Given the description of an element on the screen output the (x, y) to click on. 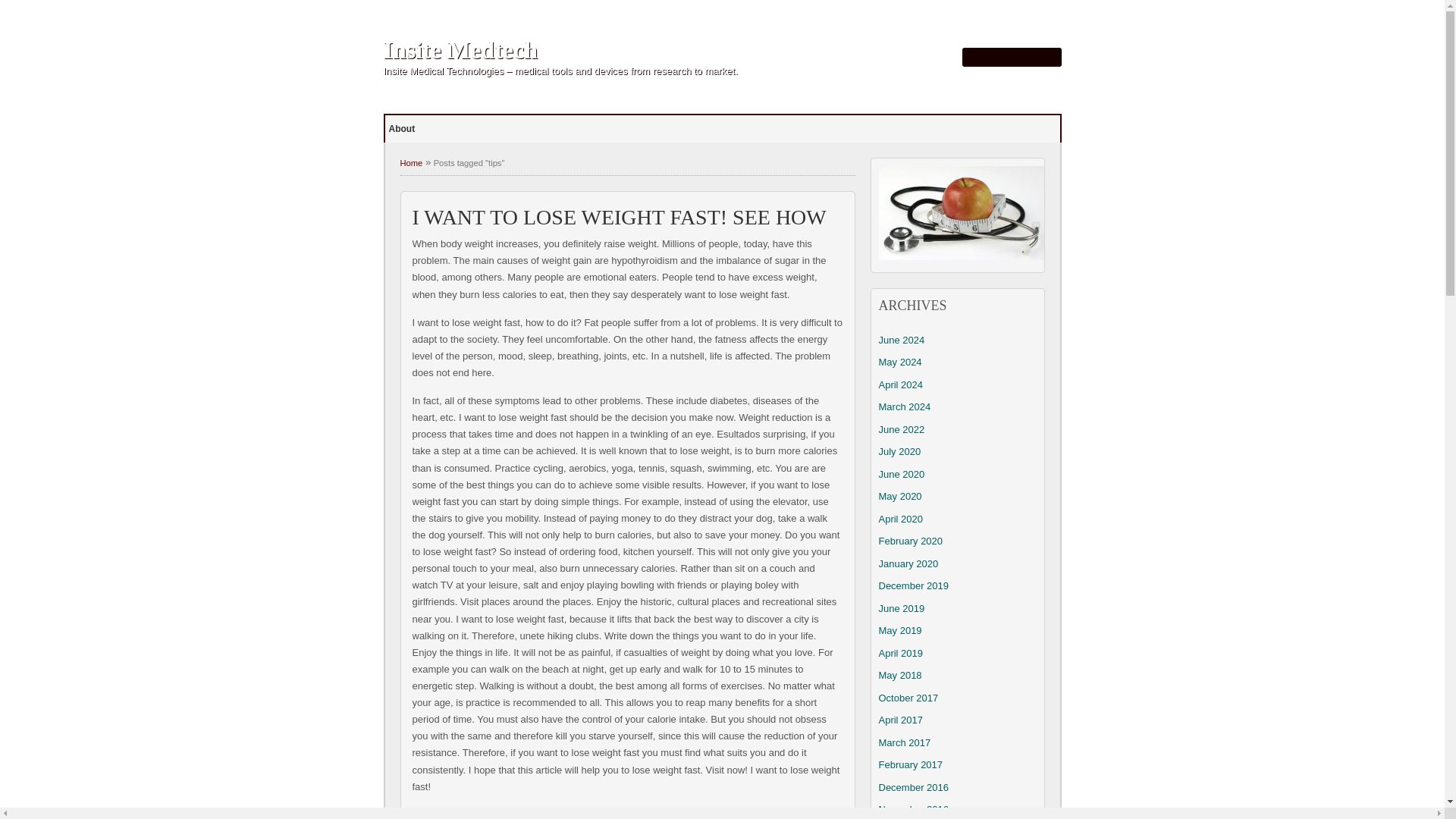
June 2022 (900, 429)
May 2024 (899, 361)
January 2020 (907, 563)
October 2017 (907, 697)
February 2020 (909, 541)
April 2019 (900, 653)
December 2019 (913, 585)
Home (411, 162)
February 2017 (909, 764)
June 2020 (900, 473)
April 2024 (900, 384)
Insite Medtech (461, 49)
May 2019 (899, 630)
June 1, 2019 (481, 818)
